Given the description of an element on the screen output the (x, y) to click on. 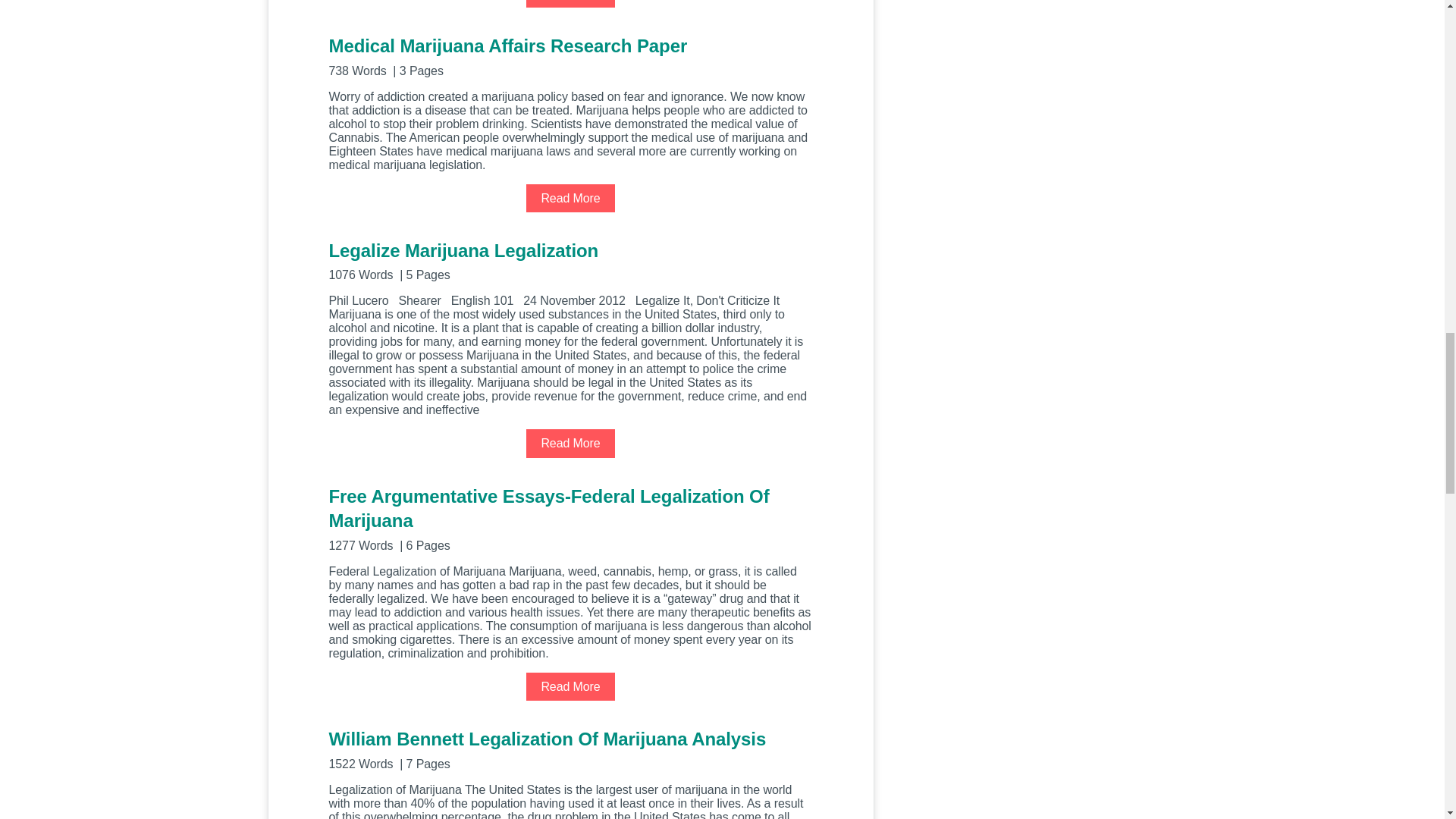
William Bennett Legalization Of Marijuana Analysis (570, 748)
Read More (569, 686)
Read More (569, 197)
Legalize Marijuana Legalization (570, 260)
Free Argumentative Essays-Federal Legalization Of Marijuana (570, 518)
Read More (569, 3)
Medical Marijuana Affairs Research Paper (570, 55)
Read More (569, 443)
